Given the description of an element on the screen output the (x, y) to click on. 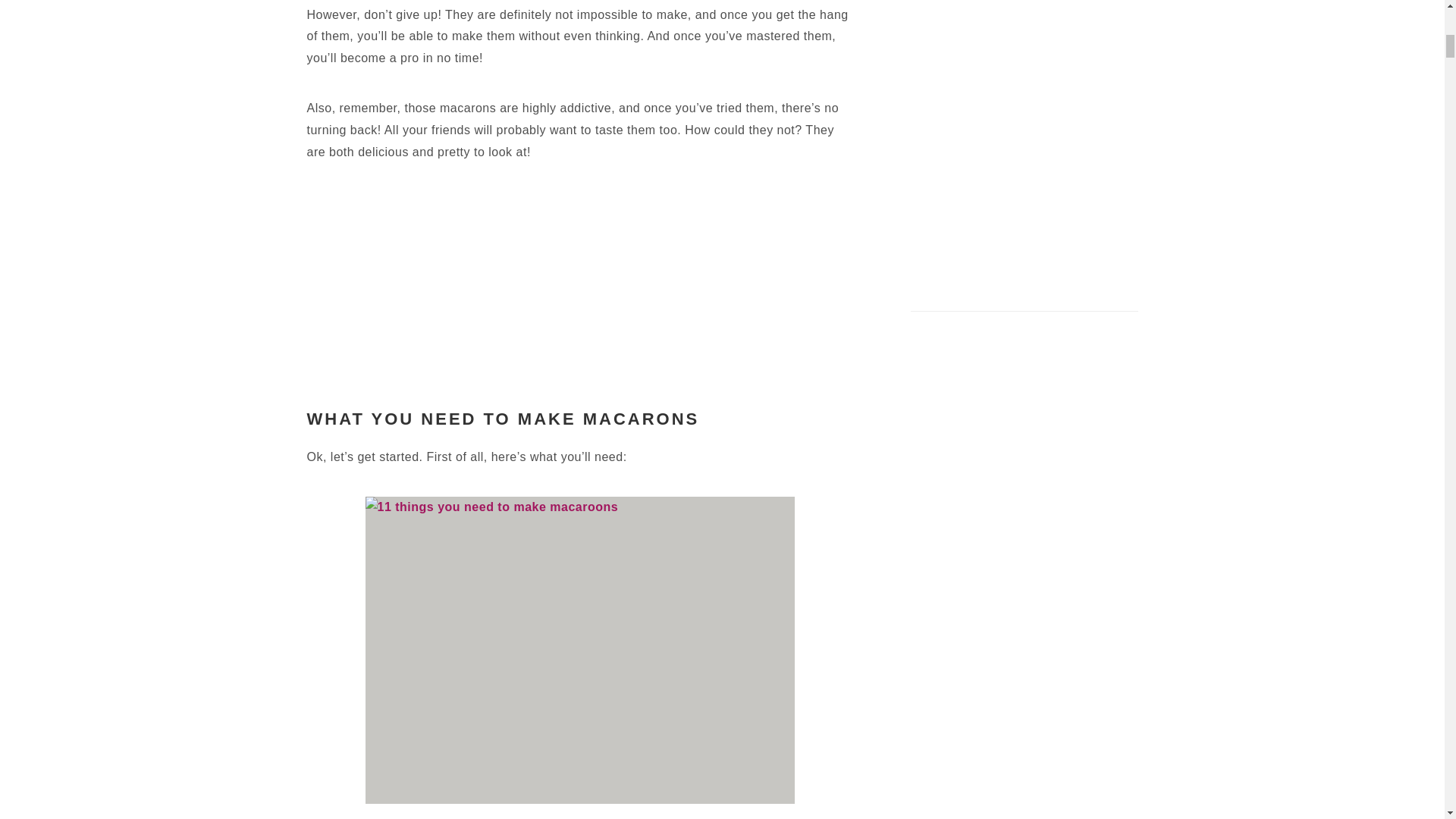
1 (579, 649)
